Given the description of an element on the screen output the (x, y) to click on. 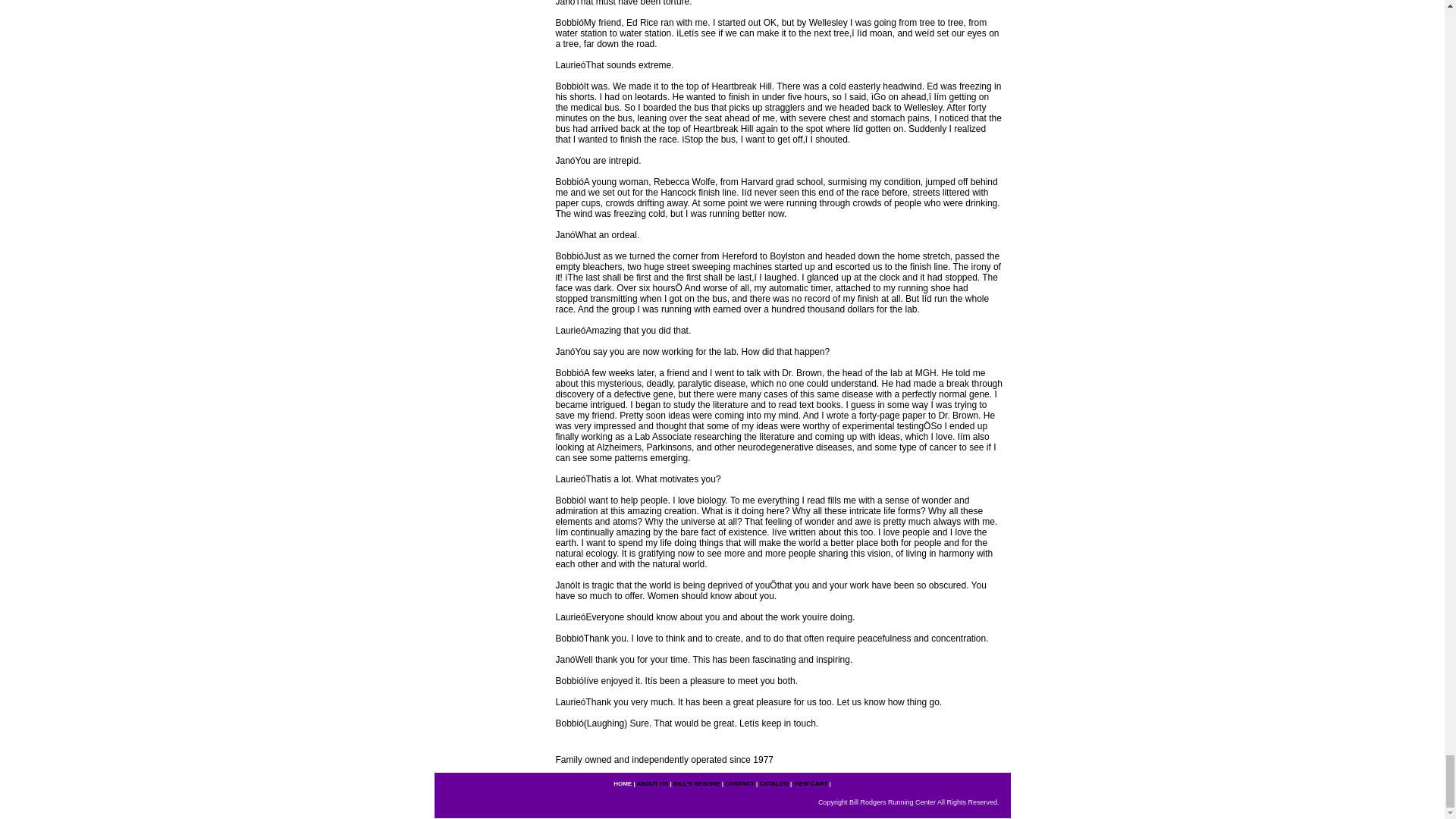
CATALOG (772, 783)
ABOUT US (652, 783)
CONTACT (739, 783)
BILL'S RESUME (695, 783)
VIEW CART (810, 783)
HOME (621, 783)
